Given the description of an element on the screen output the (x, y) to click on. 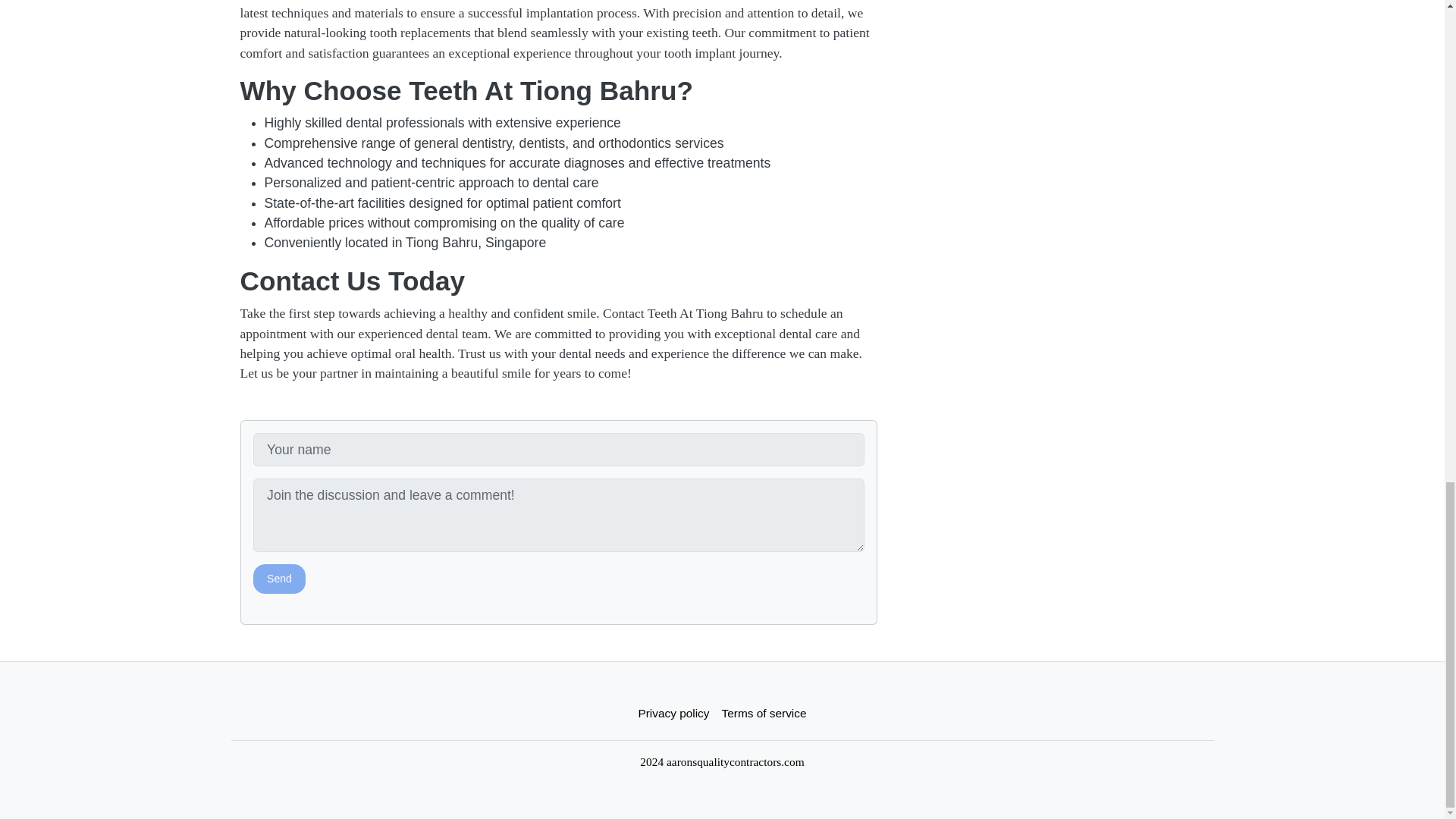
Terms of service (764, 713)
Privacy policy (672, 713)
Send (279, 578)
Send (279, 578)
